Given the description of an element on the screen output the (x, y) to click on. 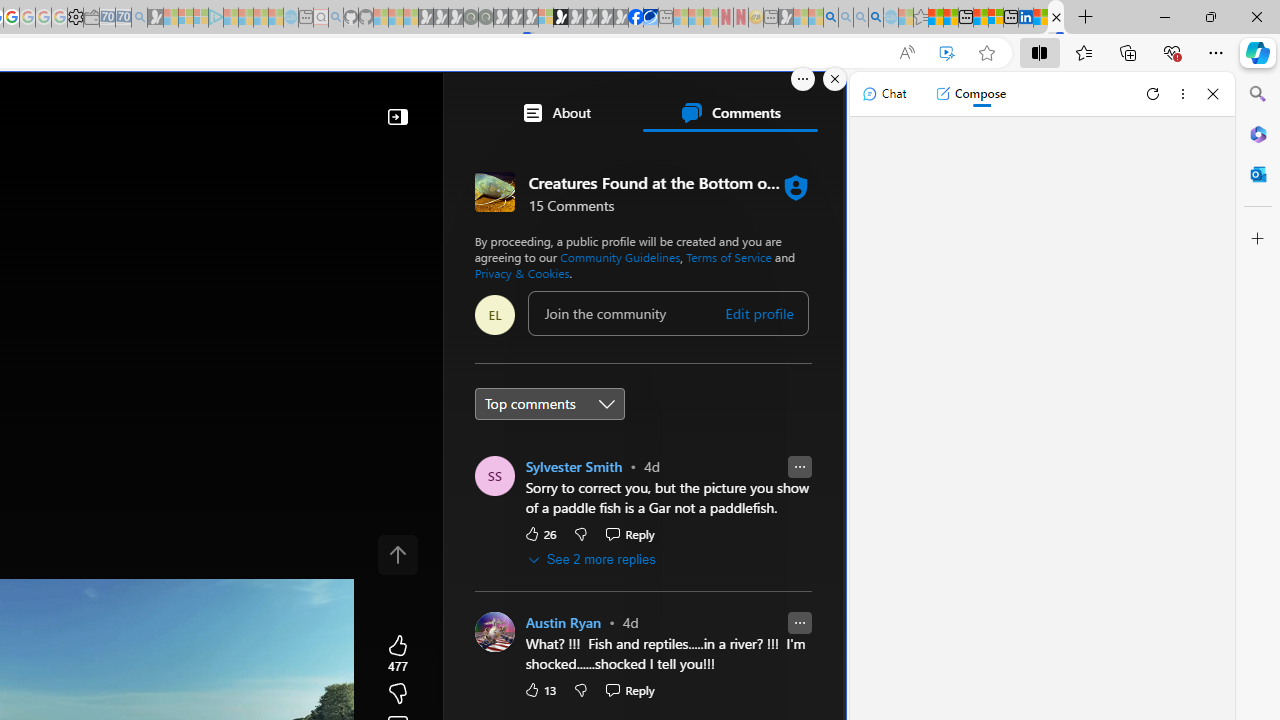
Community Guidelines (620, 255)
477 Like (397, 653)
26 Like (539, 533)
